Given the description of an element on the screen output the (x, y) to click on. 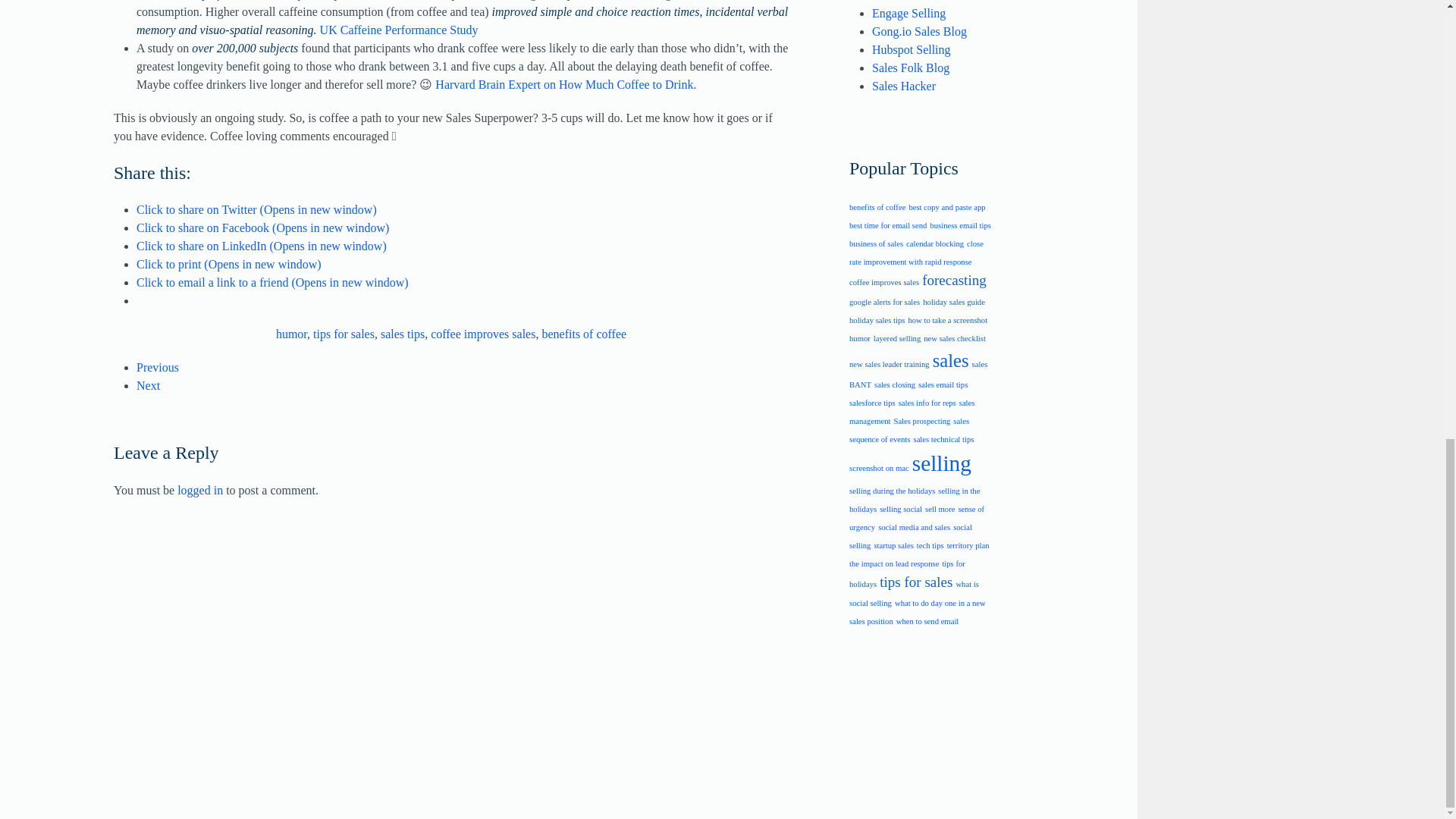
Harvard Brain Expert on How Much Coffee to Drink. (565, 83)
tips for sales (343, 333)
Click to share on Twitter (256, 209)
Click to email a link to a friend (272, 282)
Click to share on Facebook (262, 227)
Great assortment of sales and marketing info (911, 49)
Click to share on LinkedIn (261, 245)
A plethora of sales topics for u (908, 12)
coffee improves sales (482, 333)
Next (148, 385)
logged in (199, 490)
Great prospecting tips (910, 67)
humor (291, 333)
benefits of coffee (583, 333)
UK Caffeine Performance Study (399, 29)
